Given the description of an element on the screen output the (x, y) to click on. 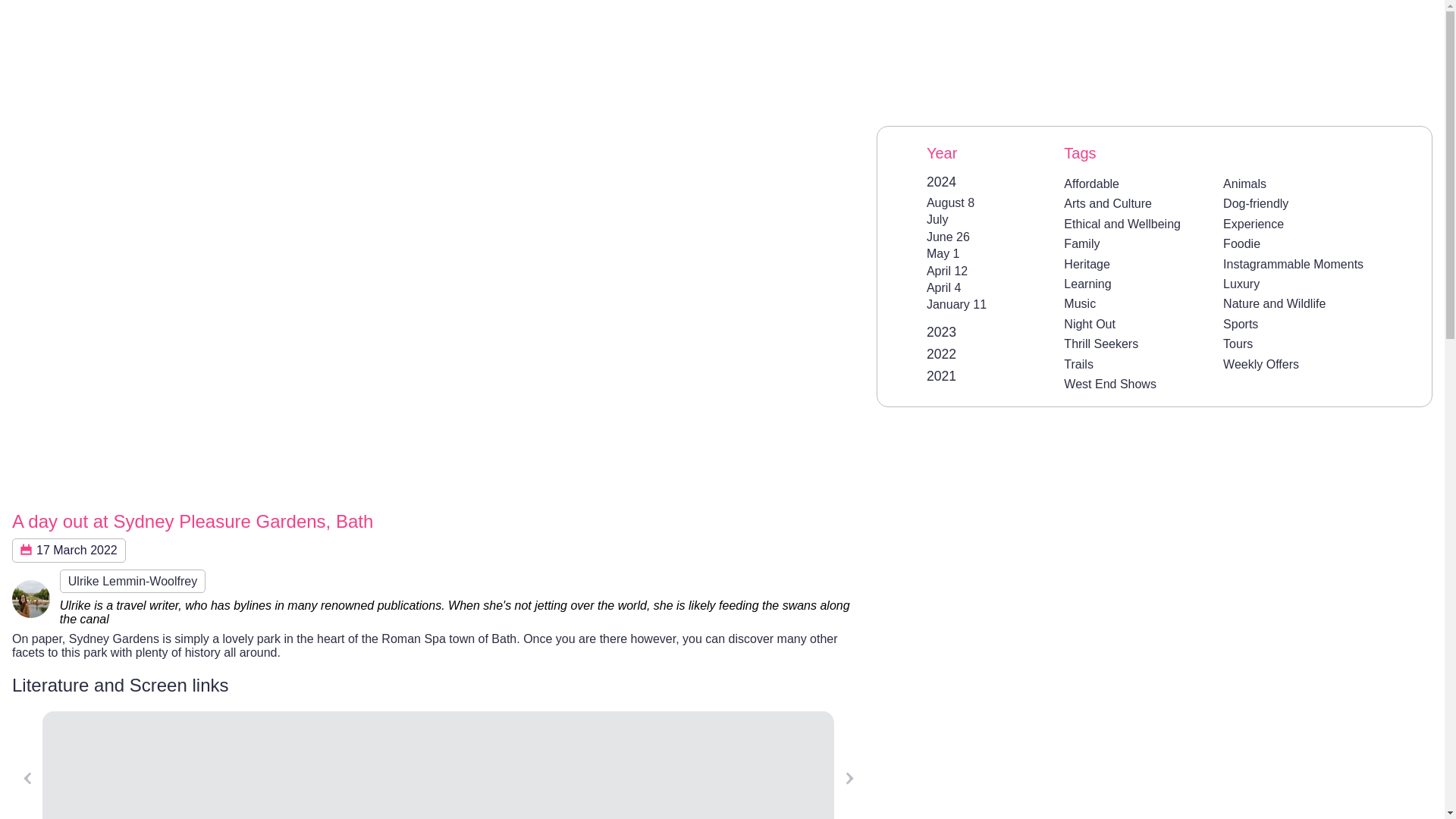
Nature and Wildlife (1273, 303)
Ethical and Wellbeing (1122, 223)
Arts and Culture (1107, 203)
Affordable (1091, 183)
Experience (1253, 223)
Sports (1240, 323)
Ulrike Lemmin-Woolfrey (132, 580)
2022 (941, 353)
Thrill Seekers (1101, 343)
Heritage (1086, 264)
